Given the description of an element on the screen output the (x, y) to click on. 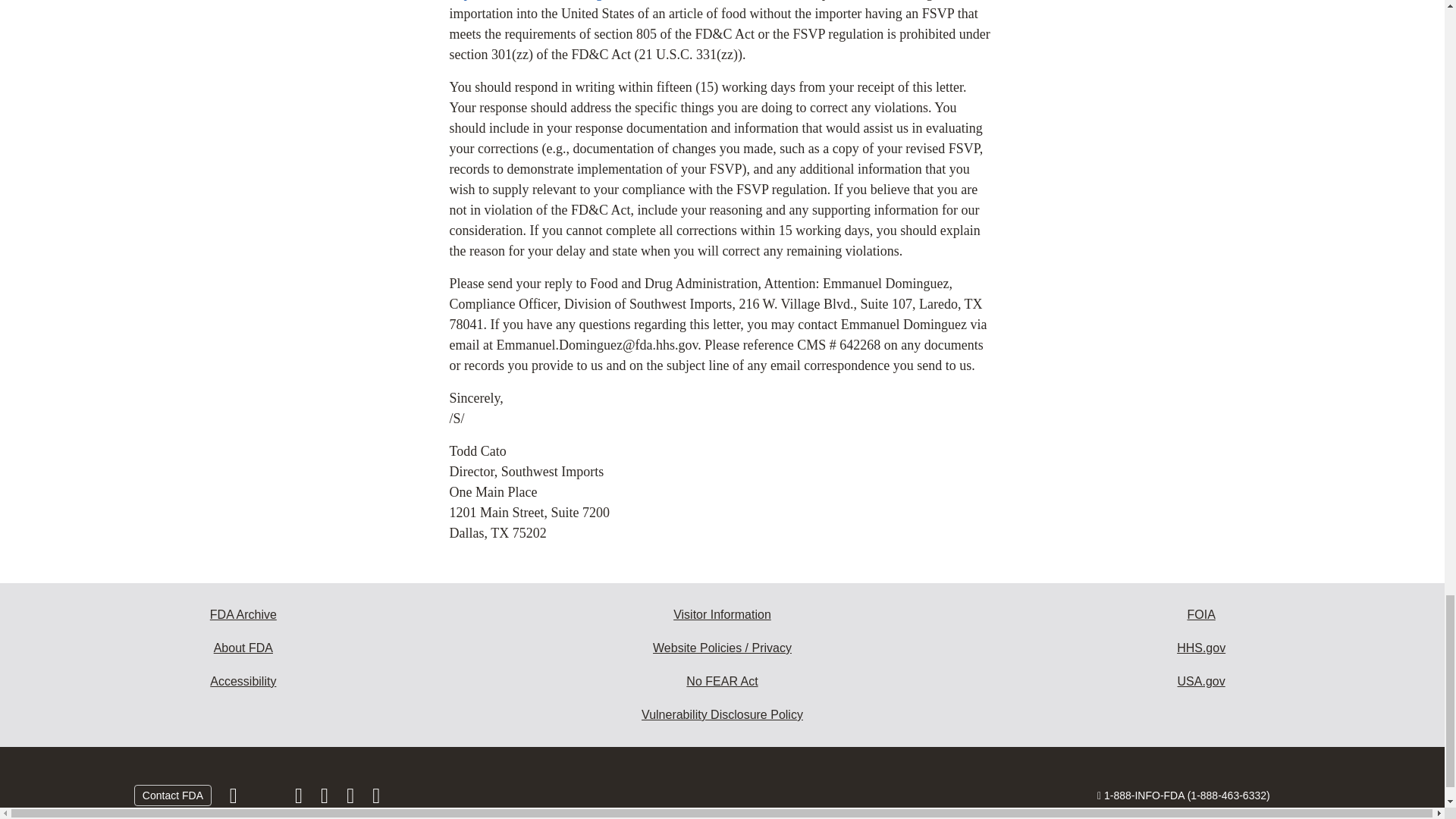
Follow FDA on X (266, 799)
Subscribe to FDA RSS feeds (376, 799)
Health and Human Services (1200, 648)
Follow FDA on Instagram (299, 799)
Follow FDA on Facebook (234, 799)
Follow FDA on LinkedIn (326, 799)
Freedom of Information Act (1200, 614)
View FDA videos on YouTube (352, 799)
